Given the description of an element on the screen output the (x, y) to click on. 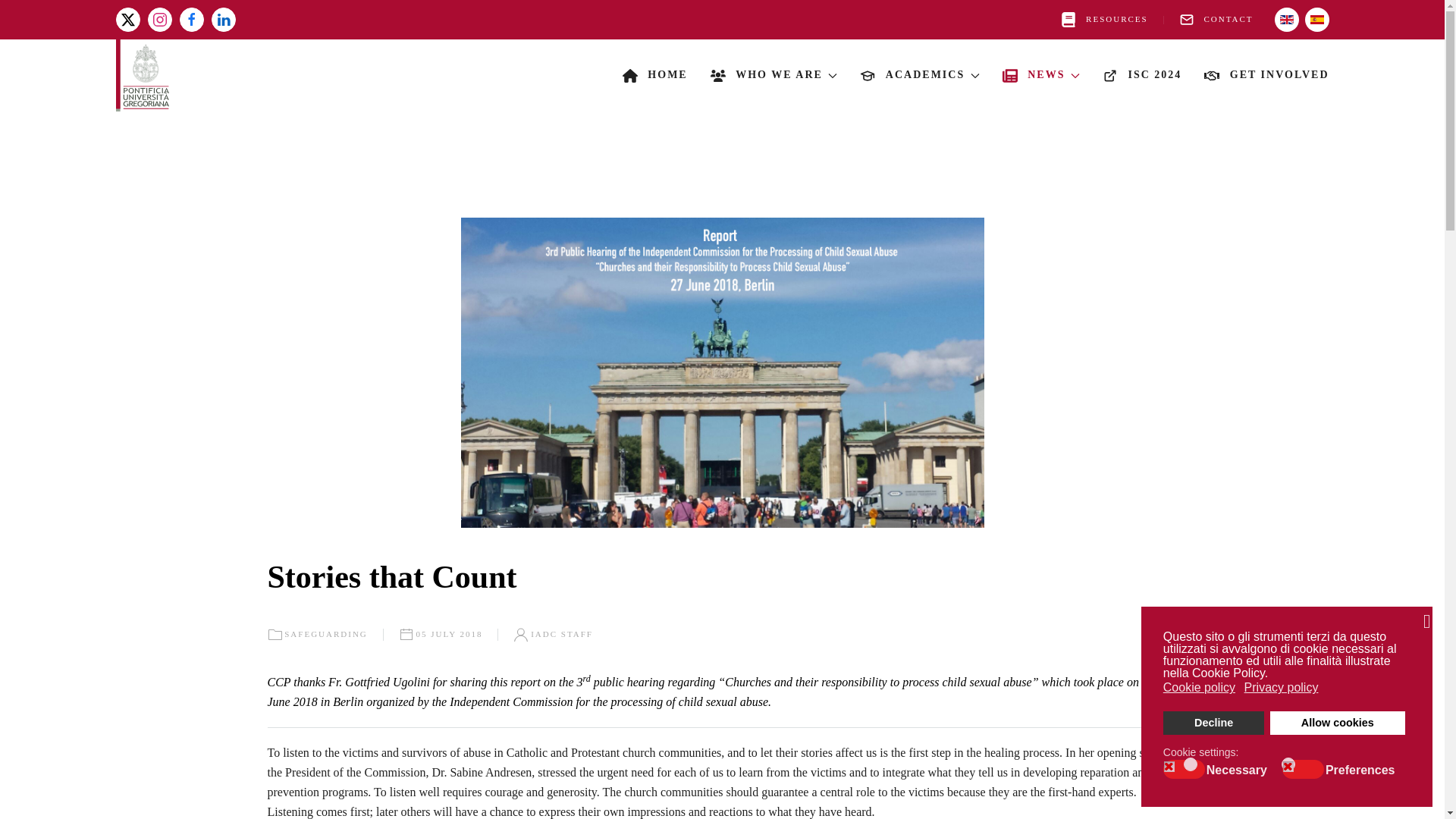
Decline (1214, 723)
Cookie policy (1200, 687)
Allow cookies (1337, 723)
Necessary (1239, 769)
CONTACT (1216, 19)
Preferences (1361, 769)
RESOURCES (1104, 19)
Privacy policy (1282, 687)
